Given the description of an element on the screen output the (x, y) to click on. 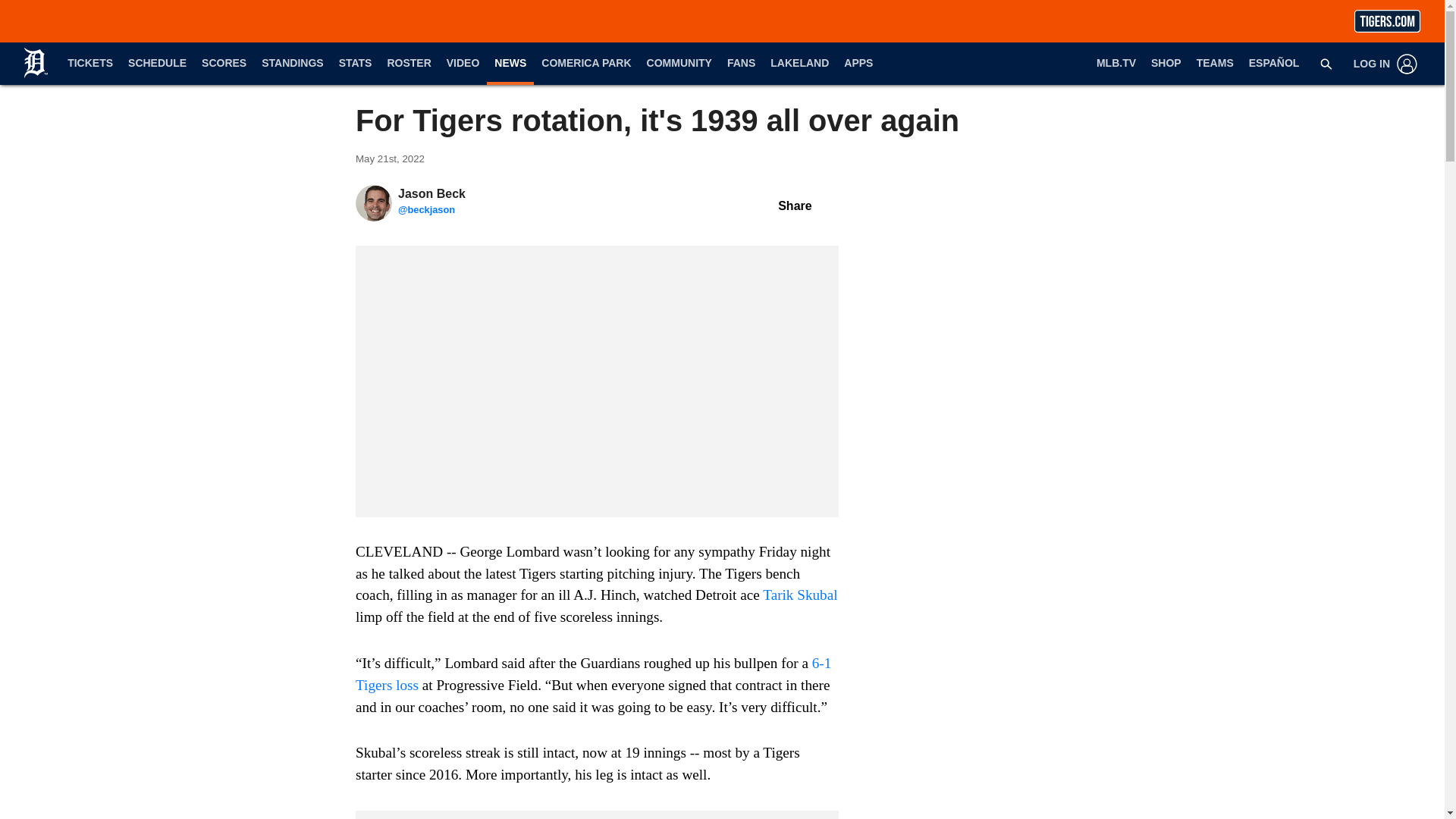
SCORES (223, 63)
search-42187 (1326, 63)
STATS (355, 63)
SCHEDULE (156, 63)
STANDINGS (291, 63)
TICKETS (89, 63)
ROSTER (408, 63)
